Given the description of an element on the screen output the (x, y) to click on. 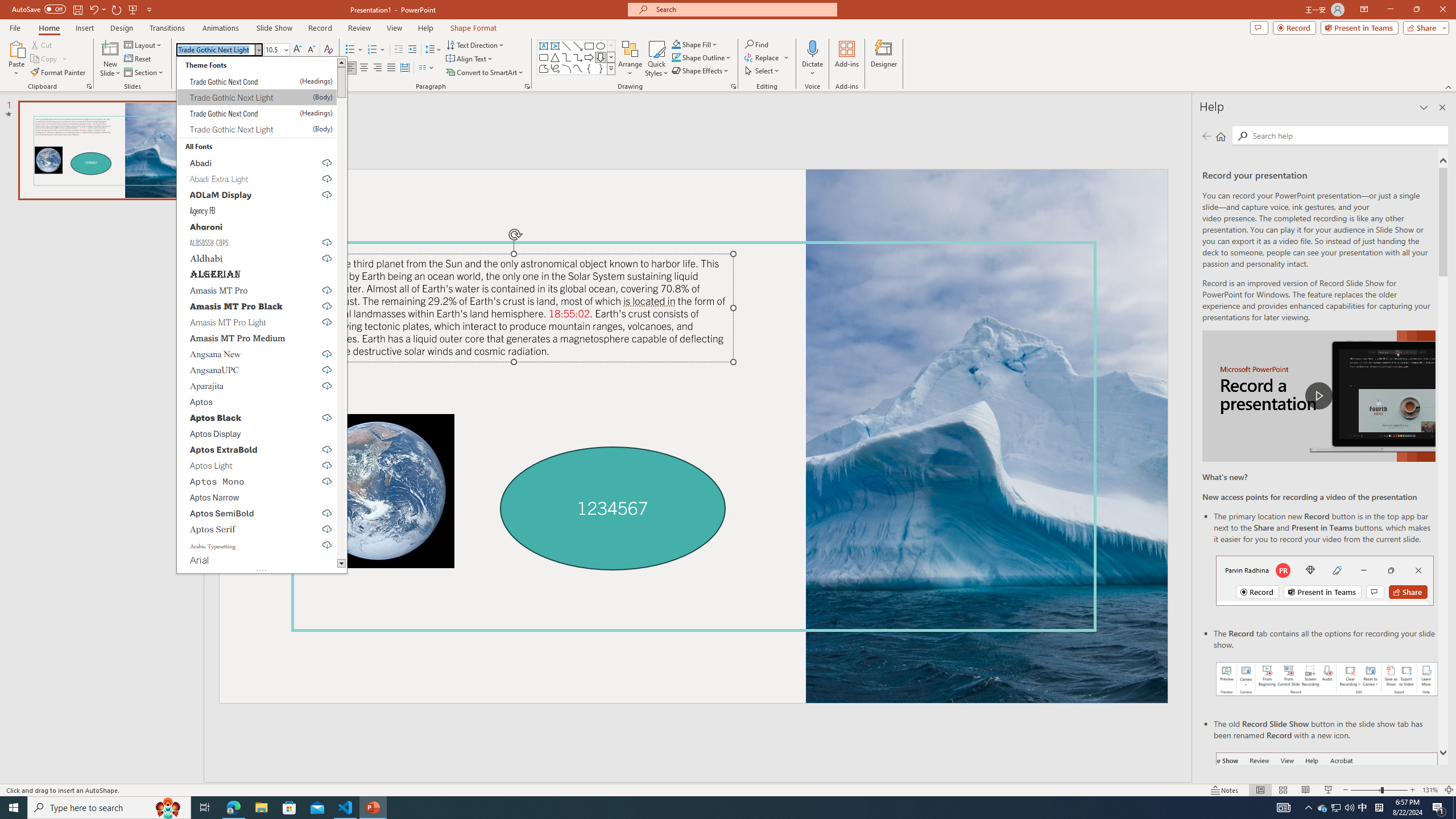
Aptos Display (256, 433)
Bold (182, 67)
Trade Gothic Next Light (Body) (256, 128)
Line (566, 45)
Shape Outline (701, 56)
Strikethrough (237, 67)
Page down (341, 328)
Search (1347, 135)
Shape Format (473, 28)
Paste (16, 58)
Decrease Indent (398, 49)
Redo (117, 9)
Slide Sorter (1282, 790)
Connector: Elbow (566, 57)
Shape Outline Teal, Accent 1 (675, 56)
